Given the description of an element on the screen output the (x, y) to click on. 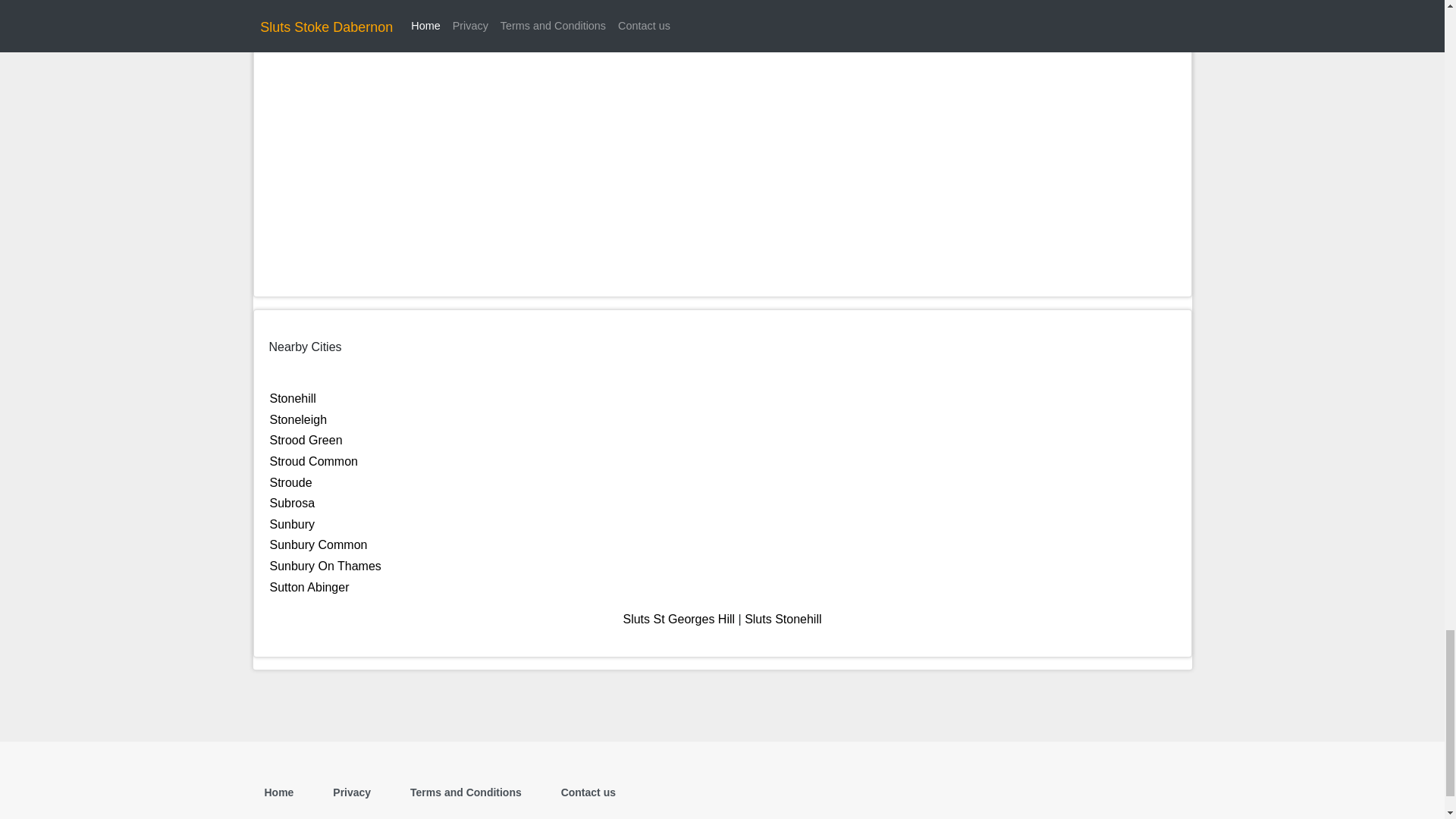
Sutton Abinger (309, 585)
Sluts St Georges Hill (679, 618)
Sluts Stonehill (782, 618)
Stonehill (292, 398)
Sunbury (292, 523)
Stoneleigh (298, 419)
Strood Green (305, 440)
Stroude (291, 481)
Subrosa (292, 502)
Sunbury On Thames (325, 565)
